Given the description of an element on the screen output the (x, y) to click on. 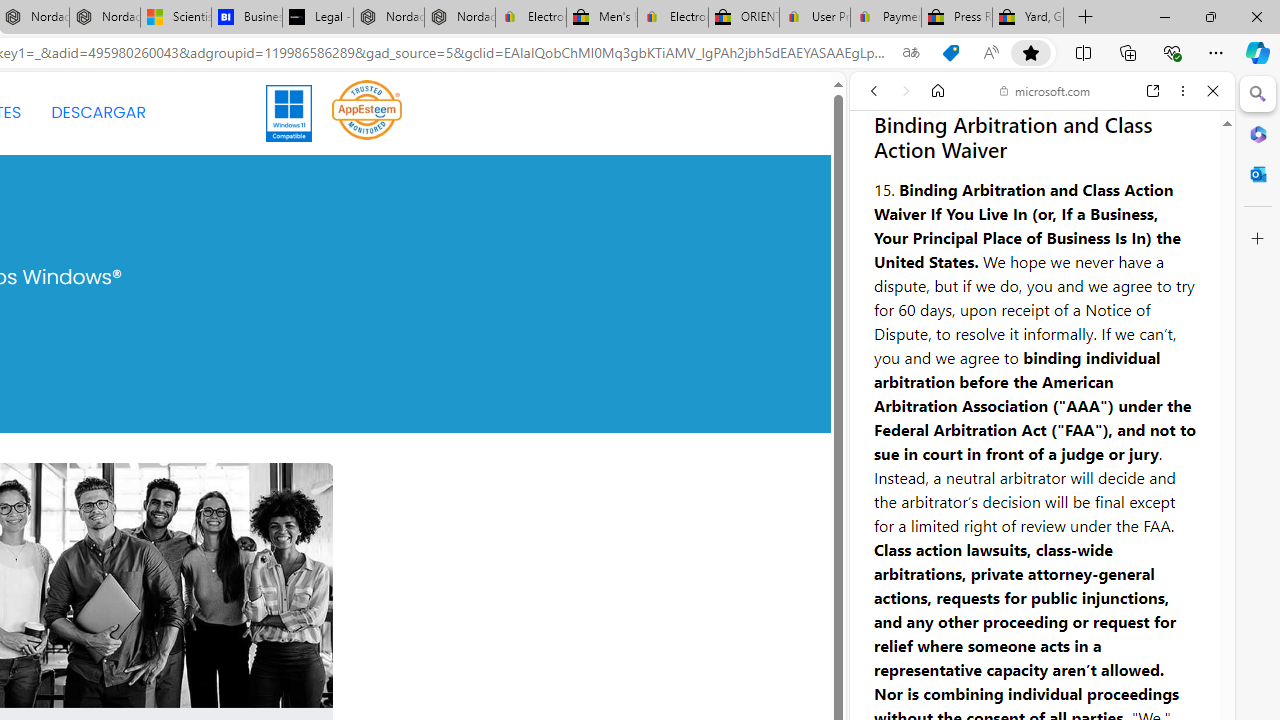
App Esteem (367, 109)
Minimize Search pane (1258, 94)
DESCARGAR (98, 112)
Press Room - eBay Inc. (956, 17)
